Given the description of an element on the screen output the (x, y) to click on. 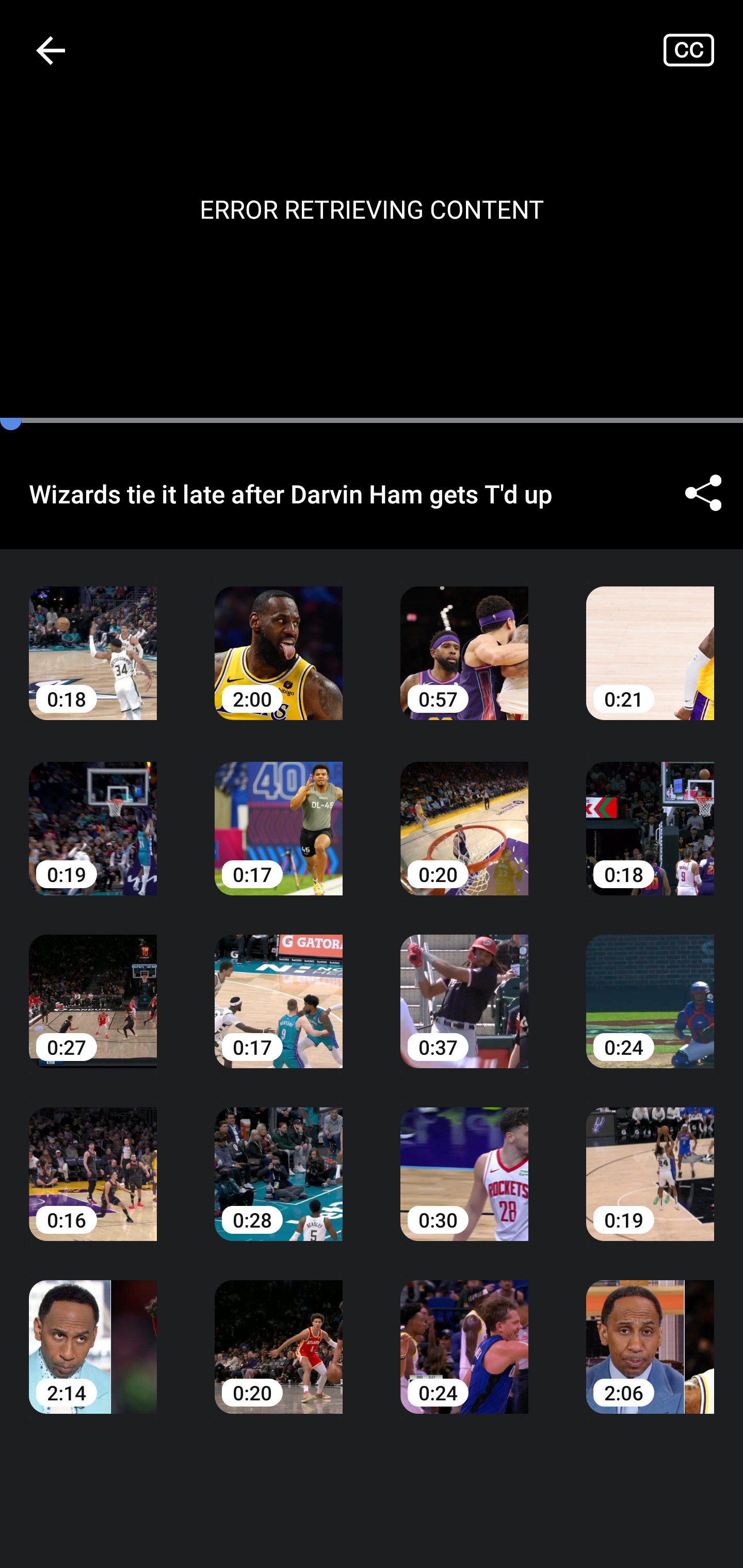
Navigate up (50, 50)
Closed captions  (703, 49)
Share © (703, 493)
0:18 (92, 637)
2:00 (278, 637)
0:57 (464, 637)
0:21 (650, 637)
0:19 (92, 813)
0:17 (278, 813)
0:20 (464, 813)
0:18 (650, 813)
0:27 (92, 987)
0:17 (278, 987)
0:37 (464, 987)
0:24 (650, 987)
0:16 (92, 1160)
0:28 (278, 1160)
0:30 (464, 1160)
0:19 (650, 1160)
2:14 (92, 1332)
0:20 (278, 1332)
0:24 (464, 1332)
2:06 (650, 1332)
